Given the description of an element on the screen output the (x, y) to click on. 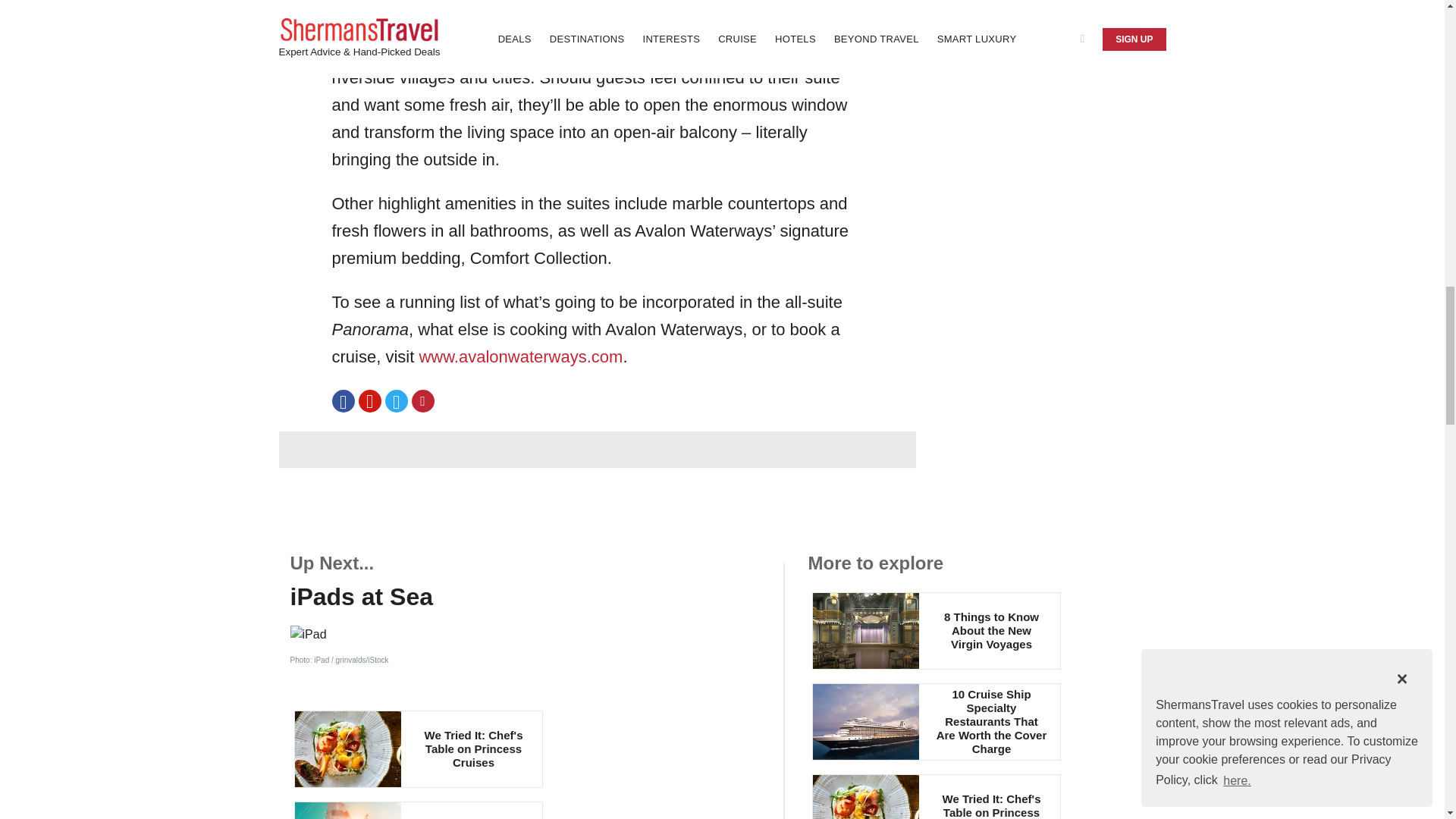
We Tried It: Chef's Table on Princess Cruises (418, 748)
iPads at Sea (523, 596)
6 Kinds of Shore Excursions to Avoid (418, 810)
8 Things to Know About the New Virgin Voyages (934, 630)
We Tried It: Chef's Table on Princess Cruises (934, 796)
www.avalonwaterways.com (521, 356)
